Given the description of an element on the screen output the (x, y) to click on. 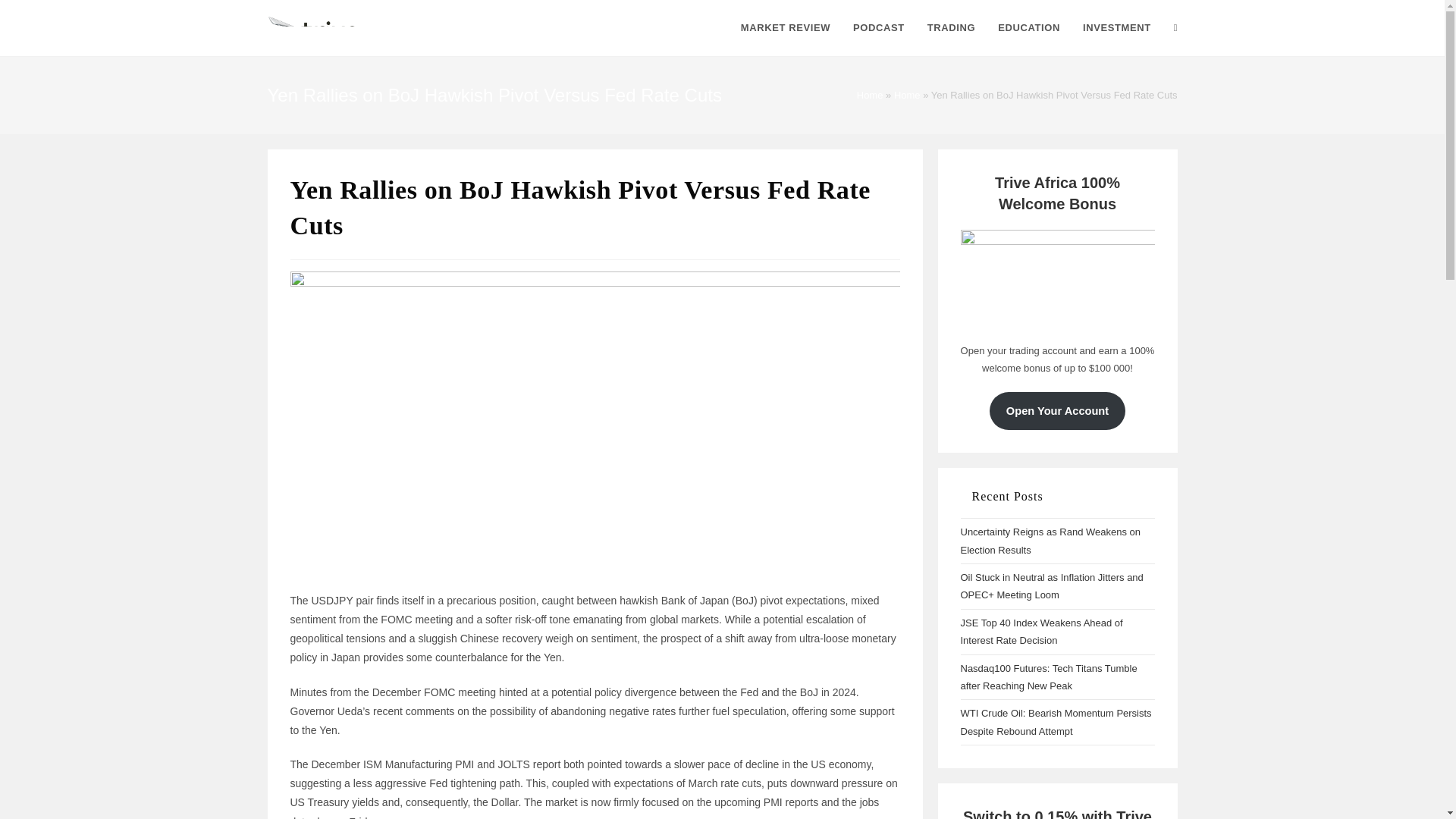
PODCAST (878, 28)
Home (906, 94)
MARKET REVIEW (785, 28)
INVESTMENT (1116, 28)
TRADING (951, 28)
EDUCATION (1029, 28)
Open Your Account (1057, 410)
JSE Top 40 Index Weakens Ahead of Interest Rate Decision (1040, 631)
Uncertainty Reigns as Rand Weakens on Election Results (1049, 540)
Home (870, 94)
